Given the description of an element on the screen output the (x, y) to click on. 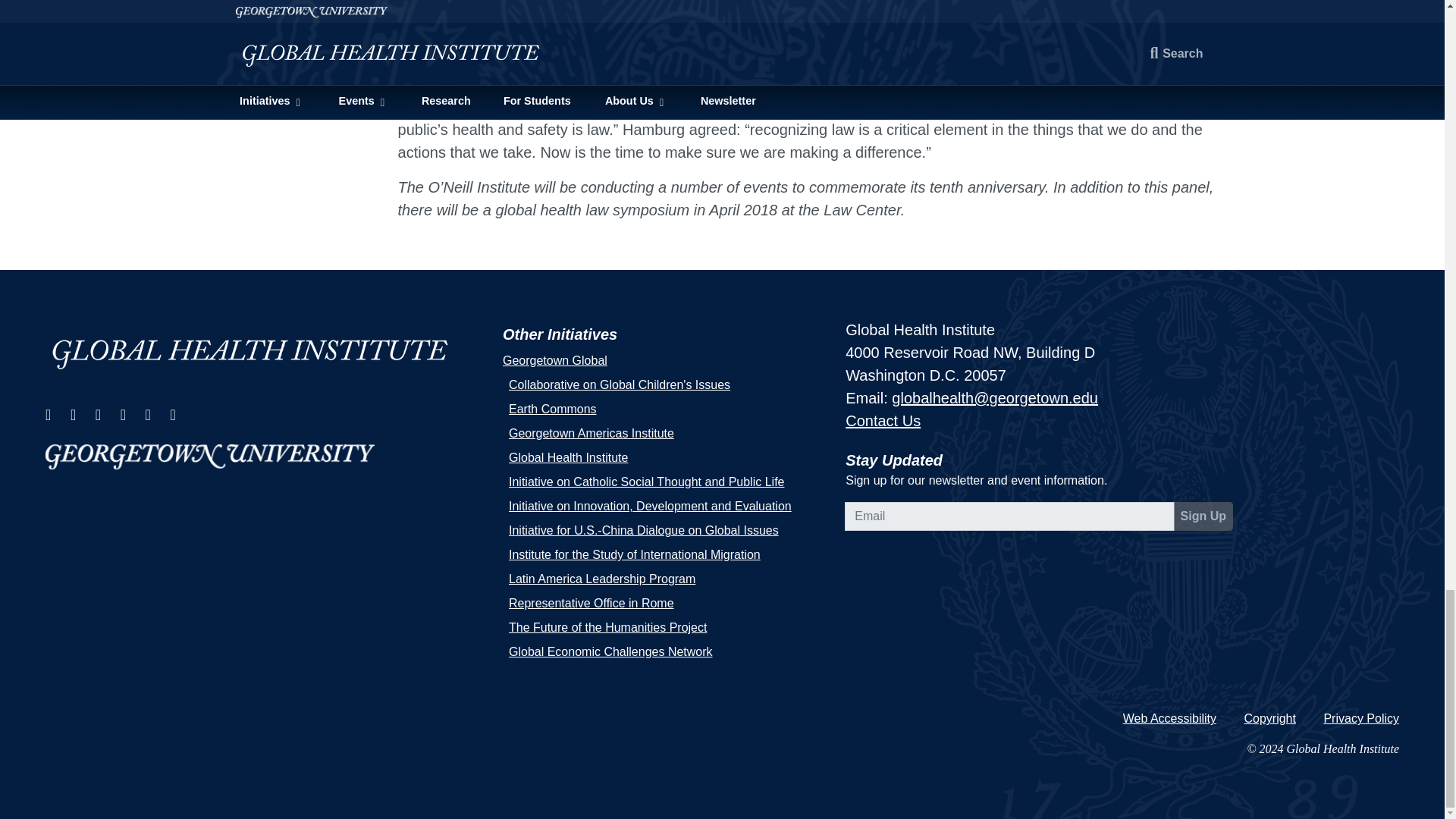
Earth Commons (552, 408)
Georgetown Global (554, 359)
Global Health Institute (567, 457)
Global Health Institute (264, 352)
Georgetown Americas Institute (591, 432)
Collaborative on Global Children's Issues (619, 384)
